Given the description of an element on the screen output the (x, y) to click on. 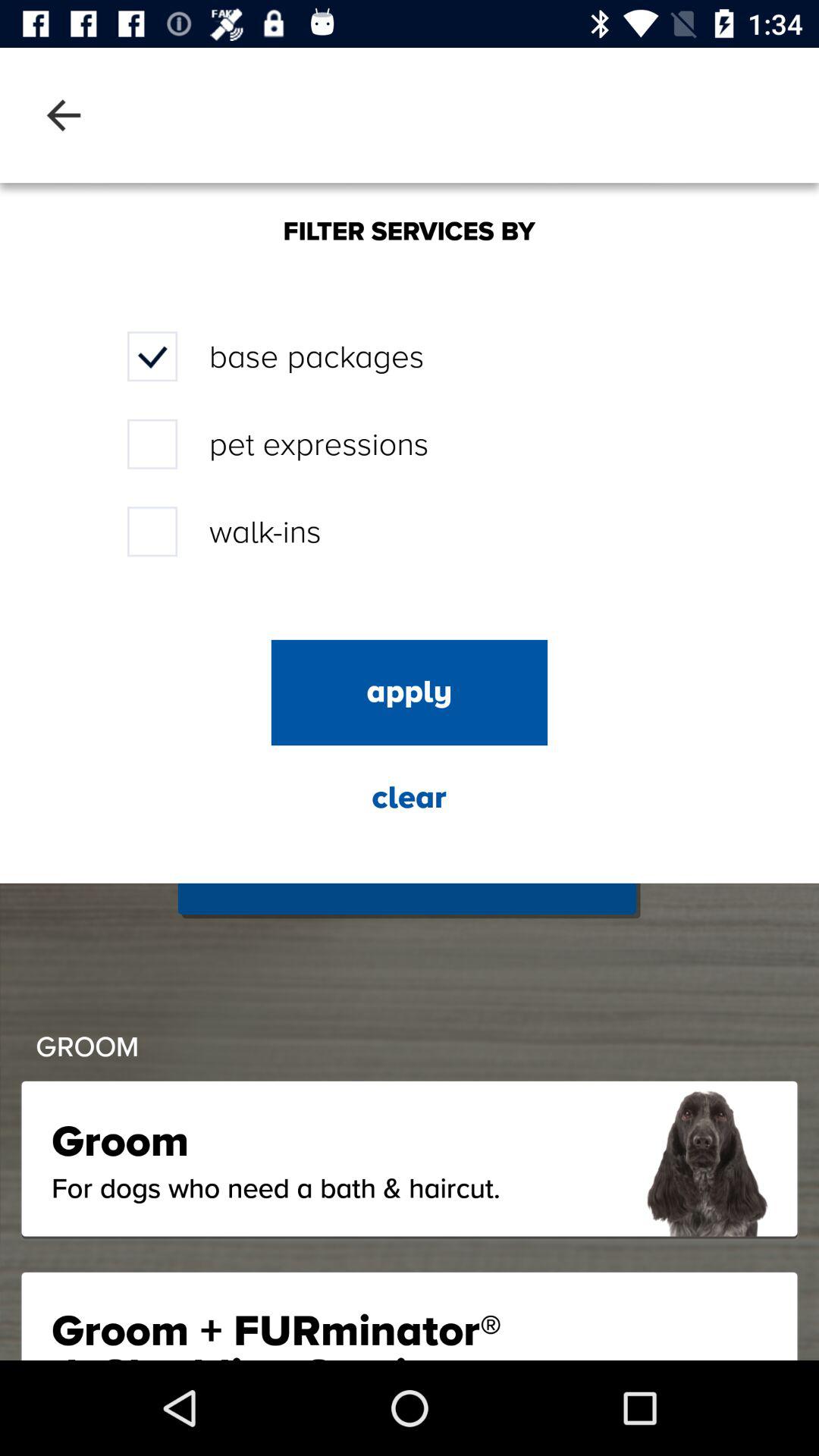
click apply icon (409, 692)
